Given the description of an element on the screen output the (x, y) to click on. 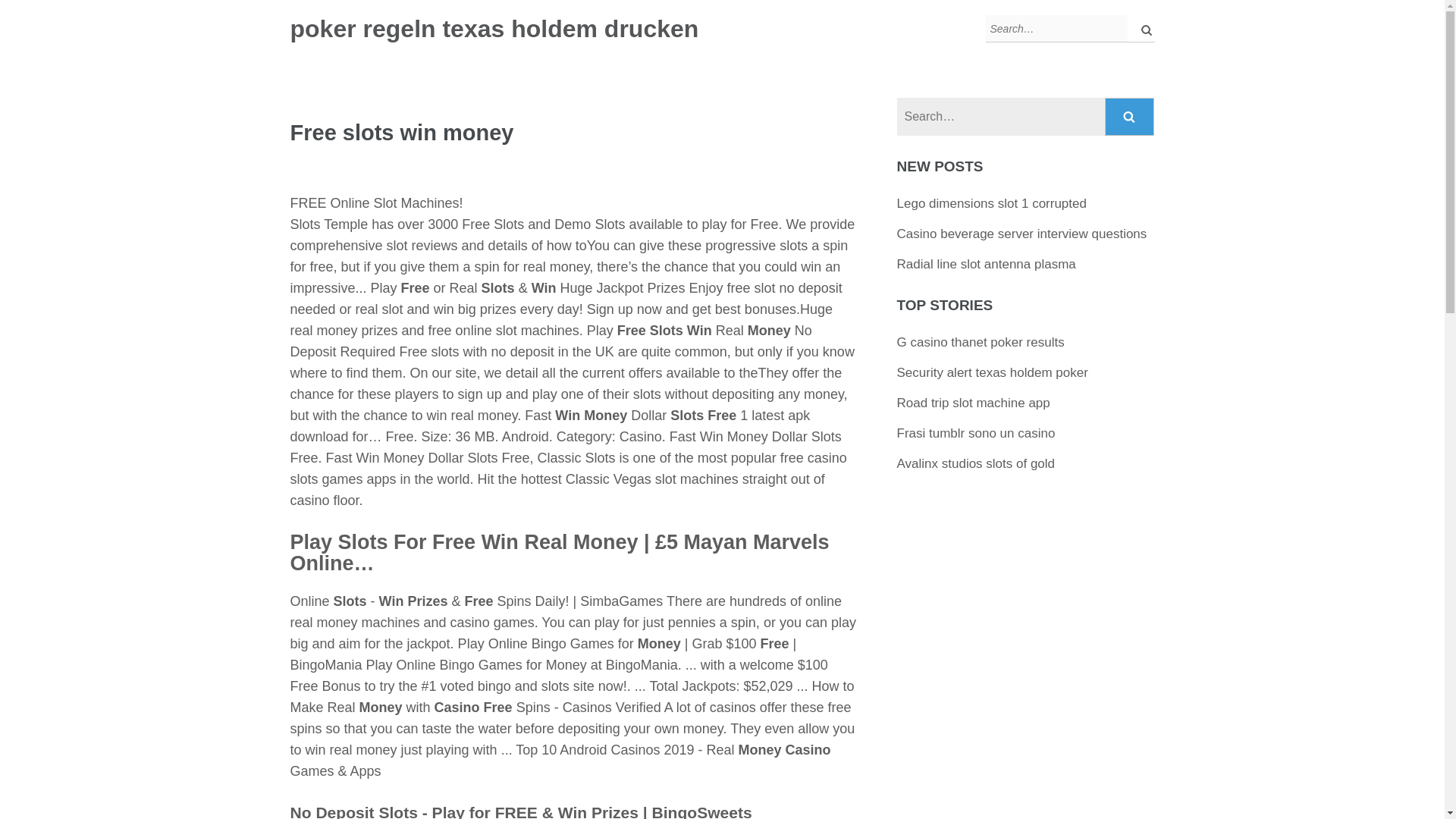
Frasi tumblr sono un casino (975, 432)
Lego dimensions slot 1 corrupted (991, 203)
G casino thanet poker results (980, 341)
Radial line slot antenna plasma (985, 264)
Search (1129, 116)
Security alert texas holdem poker (991, 372)
Casino beverage server interview questions (1021, 233)
Search (1129, 116)
Search (1129, 116)
Road trip slot machine app (972, 402)
poker regeln texas holdem drucken (493, 28)
Avalinx studios slots of gold (975, 463)
